Given the description of an element on the screen output the (x, y) to click on. 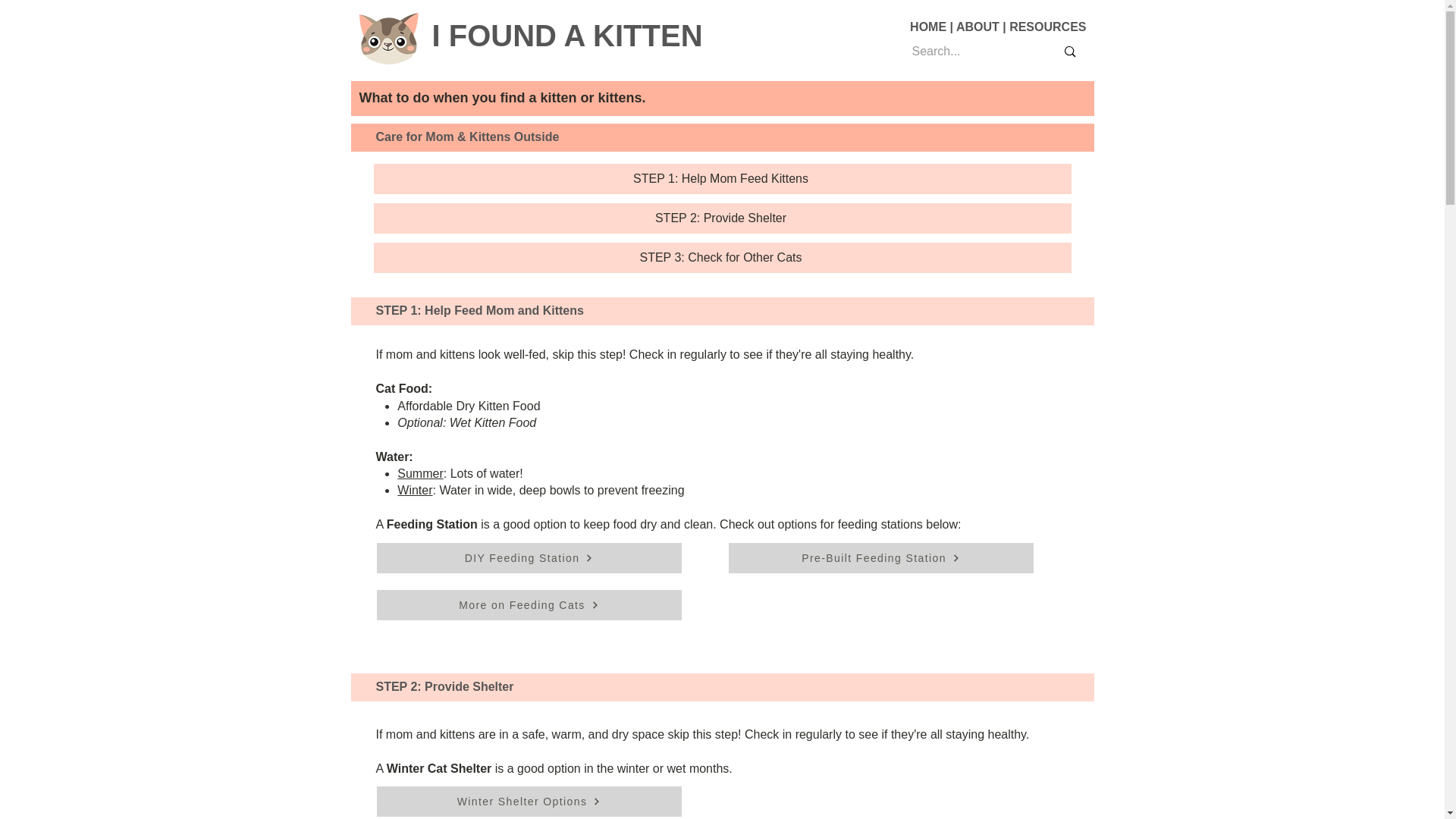
DIY Feeding Station (528, 557)
STEP 2: Provide Shelter (721, 218)
More on Feeding Cats (528, 604)
Pre-Built Feeding Station (880, 557)
STEP 3: Check for Other Cats (721, 257)
STEP 1: Help Mom Feed Kittens (721, 178)
ABOUT (977, 26)
HOME (928, 26)
I FOUND A KITTEN (567, 35)
Winter Shelter Options (528, 801)
